Given the description of an element on the screen output the (x, y) to click on. 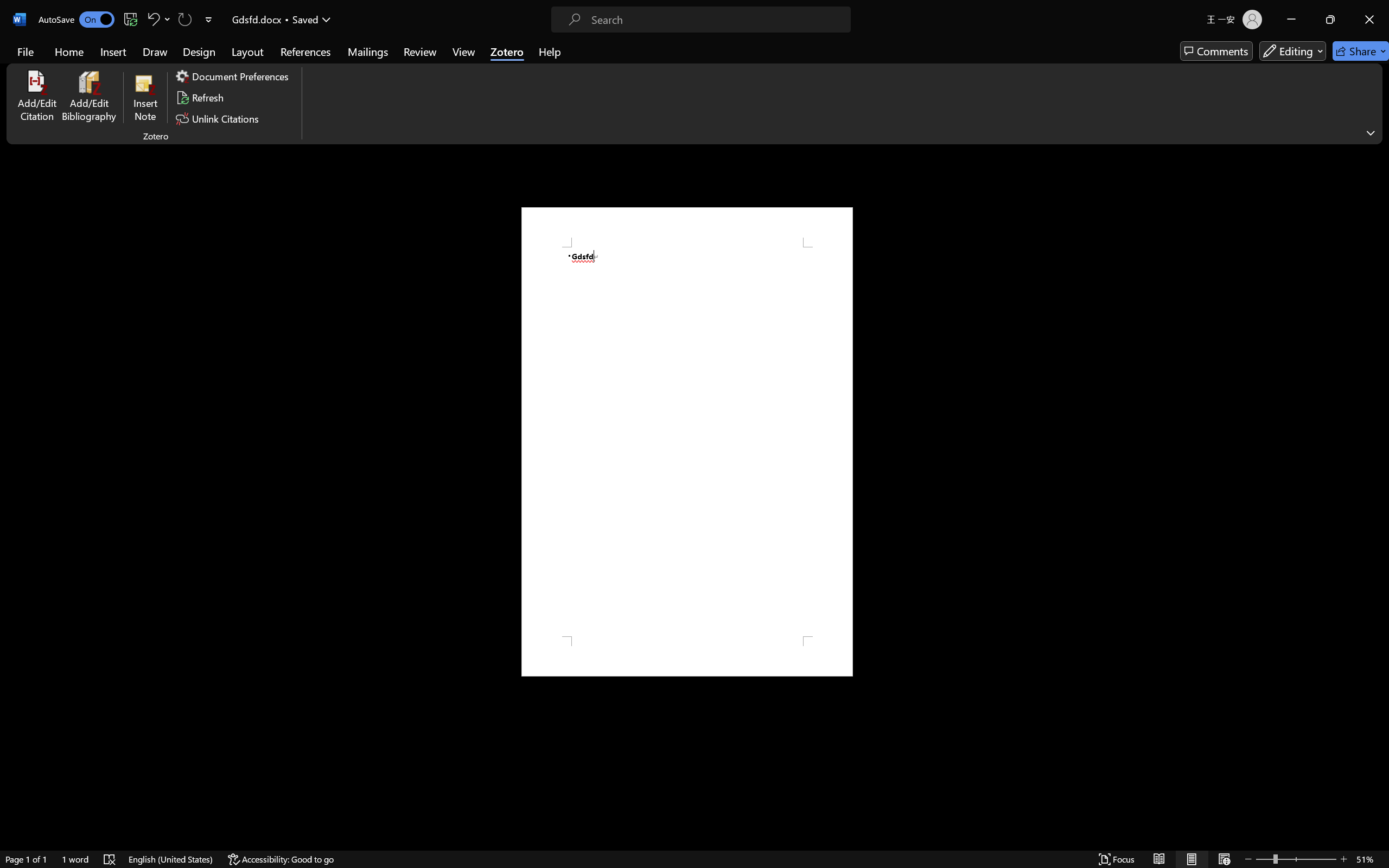
Page 1 content (686, 441)
